Given the description of an element on the screen output the (x, y) to click on. 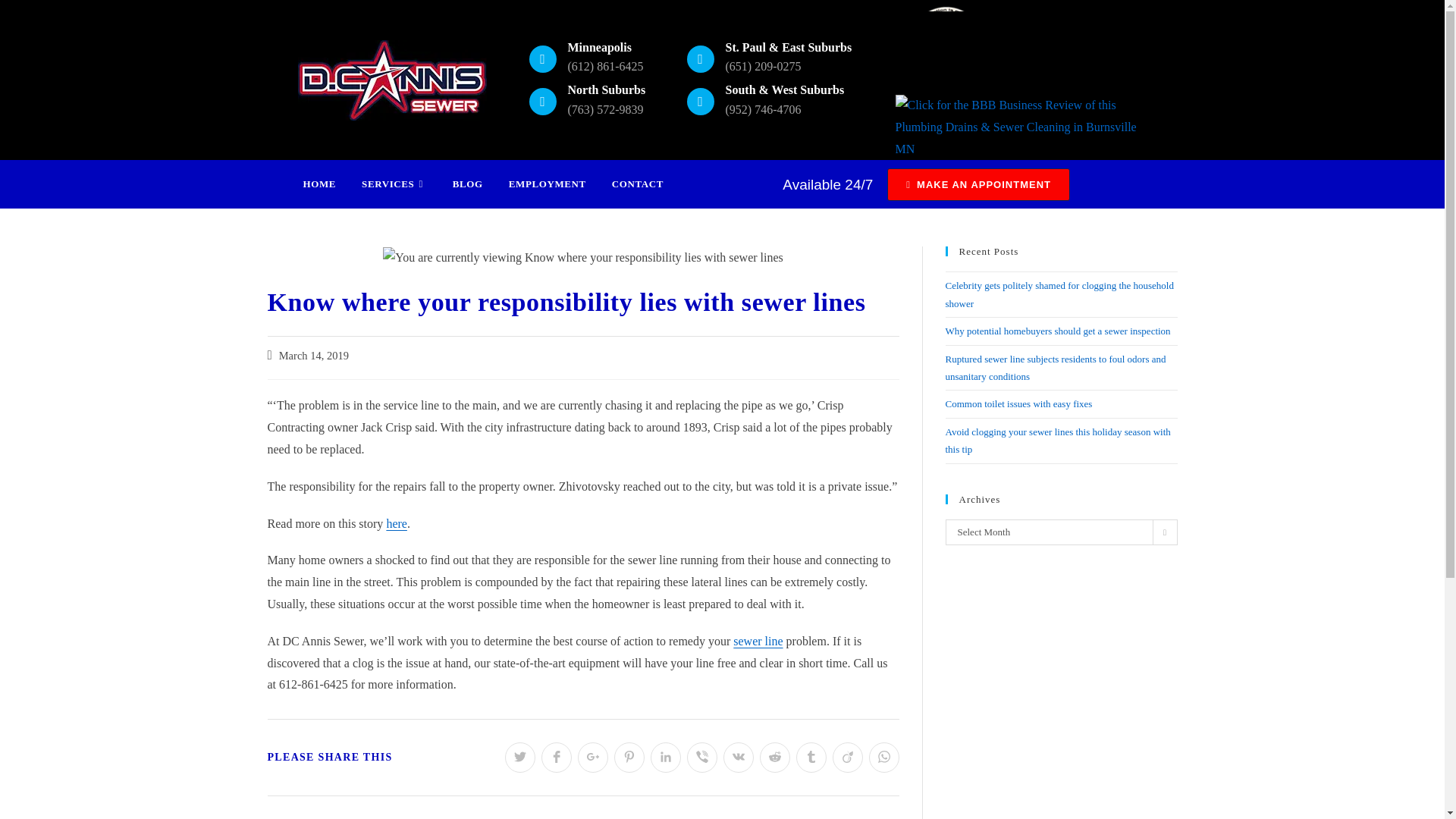
Verified Vendor (945, 45)
BLOG (467, 183)
HOME (319, 183)
SERVICES (394, 183)
North Suburbs (606, 89)
Minneapolis (598, 47)
